Given the description of an element on the screen output the (x, y) to click on. 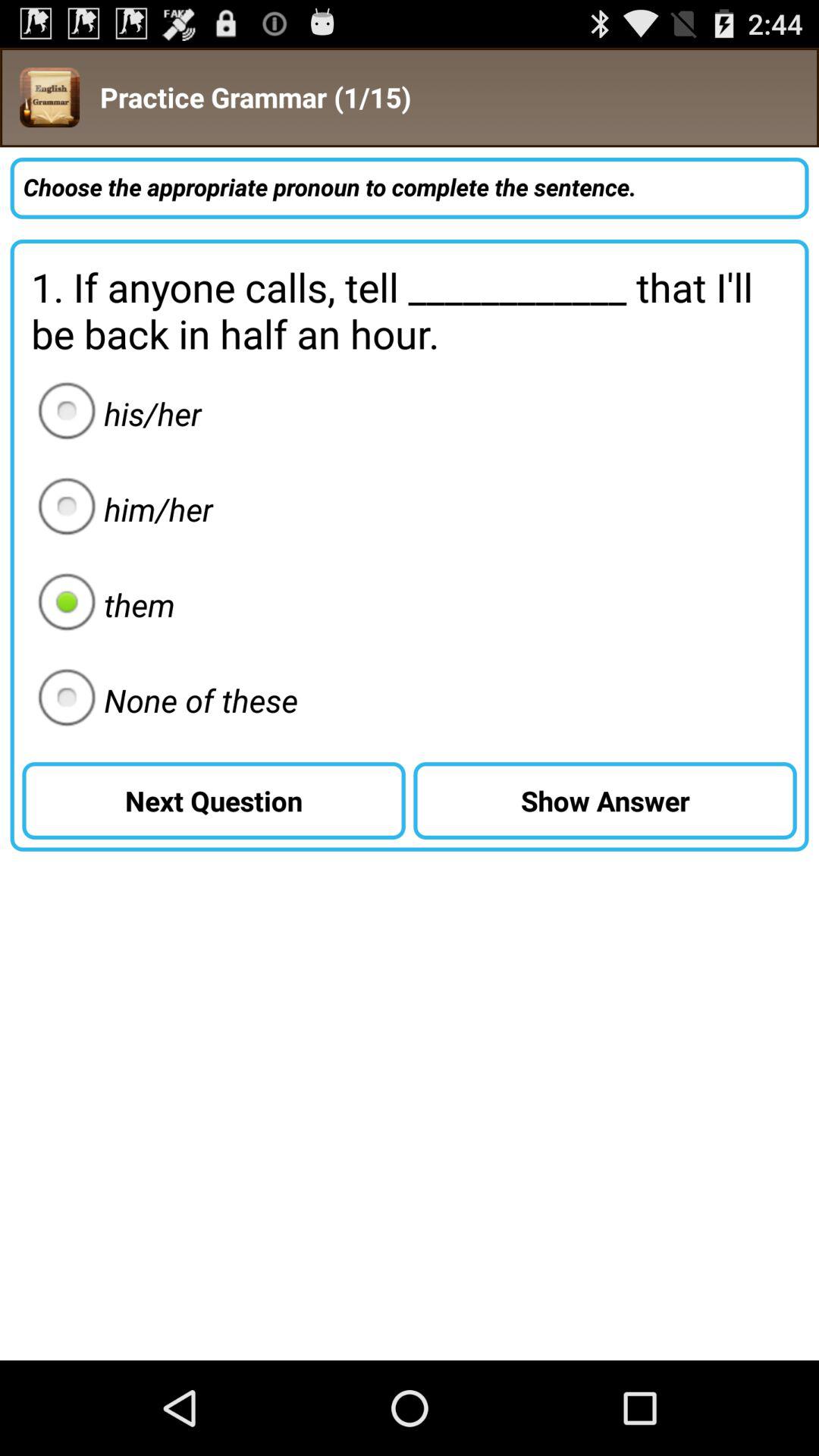
tap the them (101, 604)
